Given the description of an element on the screen output the (x, y) to click on. 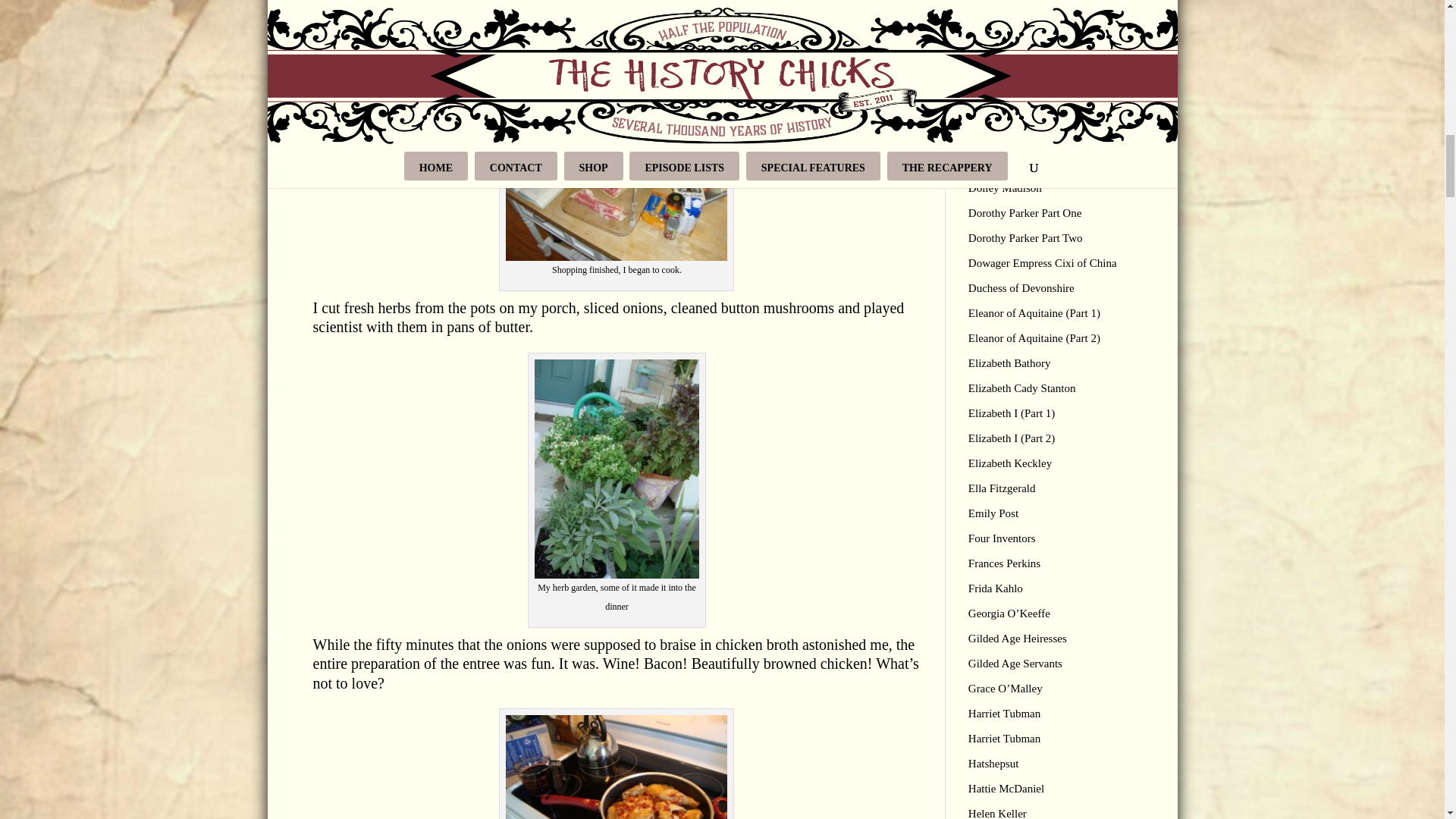
178 (615, 178)
182 (616, 468)
181 (615, 766)
